Given the description of an element on the screen output the (x, y) to click on. 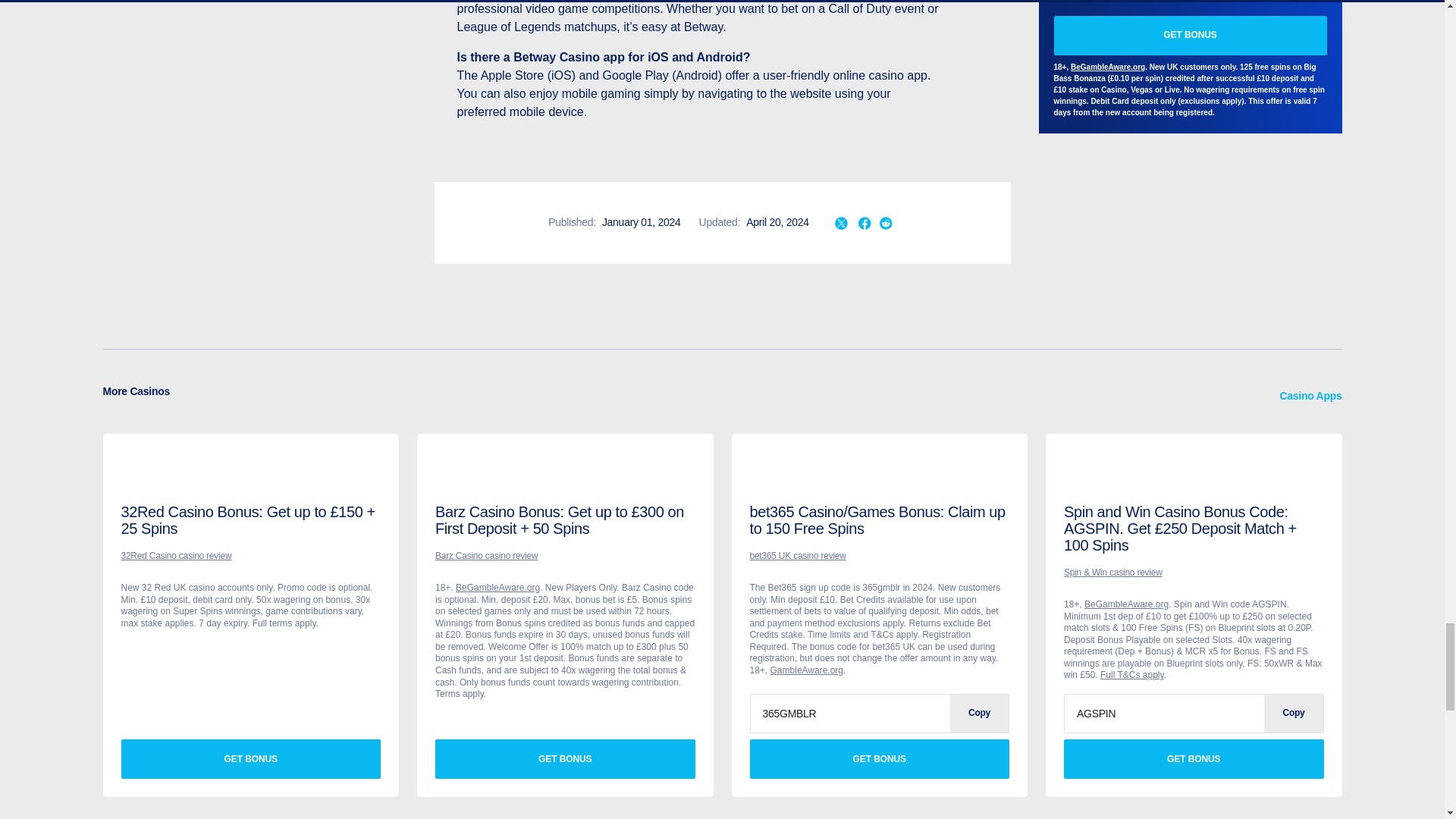
Spin-and-win casino UK - aGamble.com (1086, 474)
Barz Casino Online UK - aGamble.com (457, 474)
bet365 casino - aGamble.com (771, 474)
32Red Casino UK - aGamble.com (143, 474)
